Given the description of an element on the screen output the (x, y) to click on. 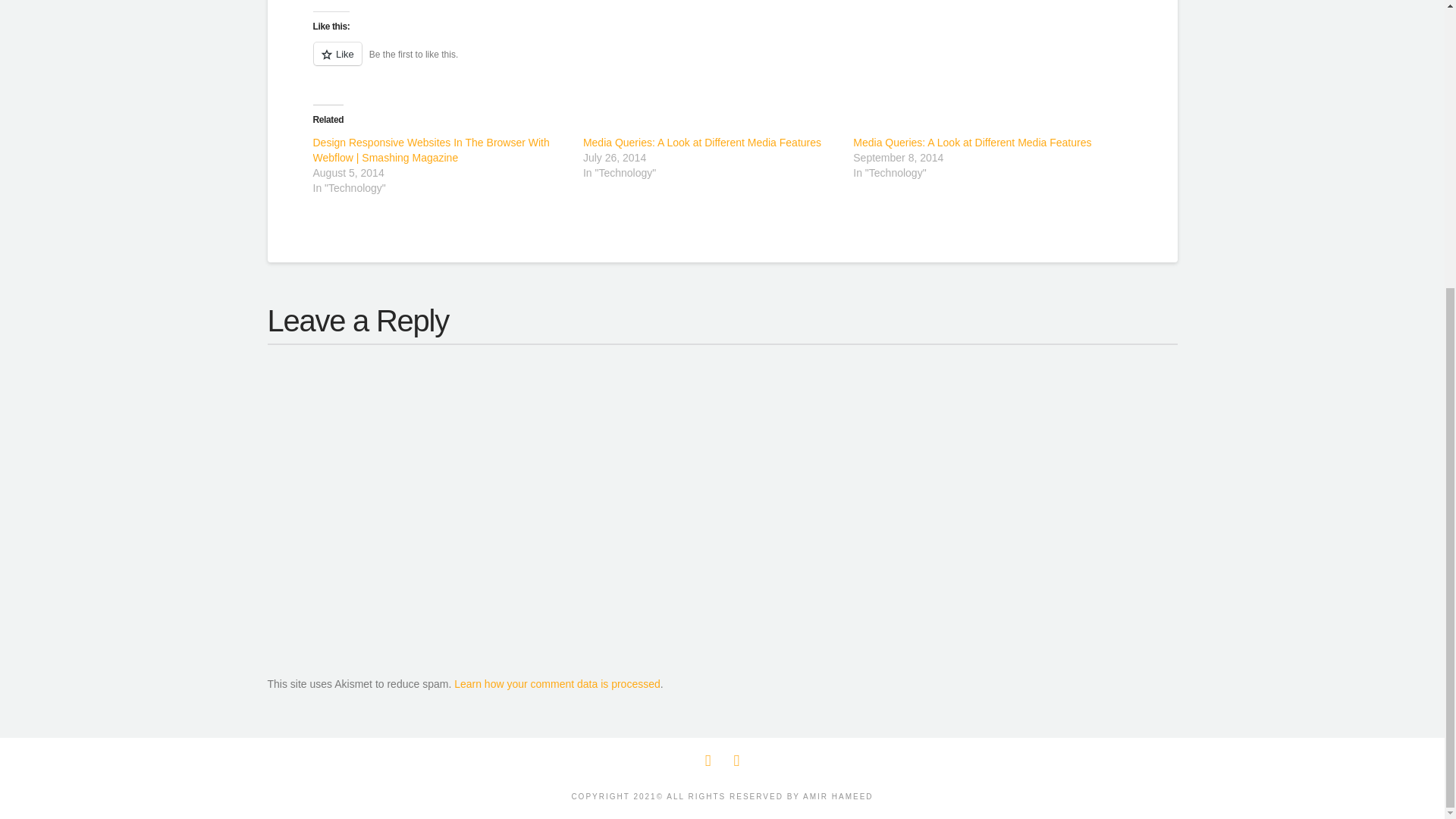
Learn how your comment data is processed (557, 684)
Media Queries: A Look at Different Media Features (971, 142)
Like or Reblog (722, 62)
Media Queries: A Look at Different Media Features (702, 142)
Media Queries: A Look at Different Media Features (971, 142)
Media Queries: A Look at Different Media Features (702, 142)
